Given the description of an element on the screen output the (x, y) to click on. 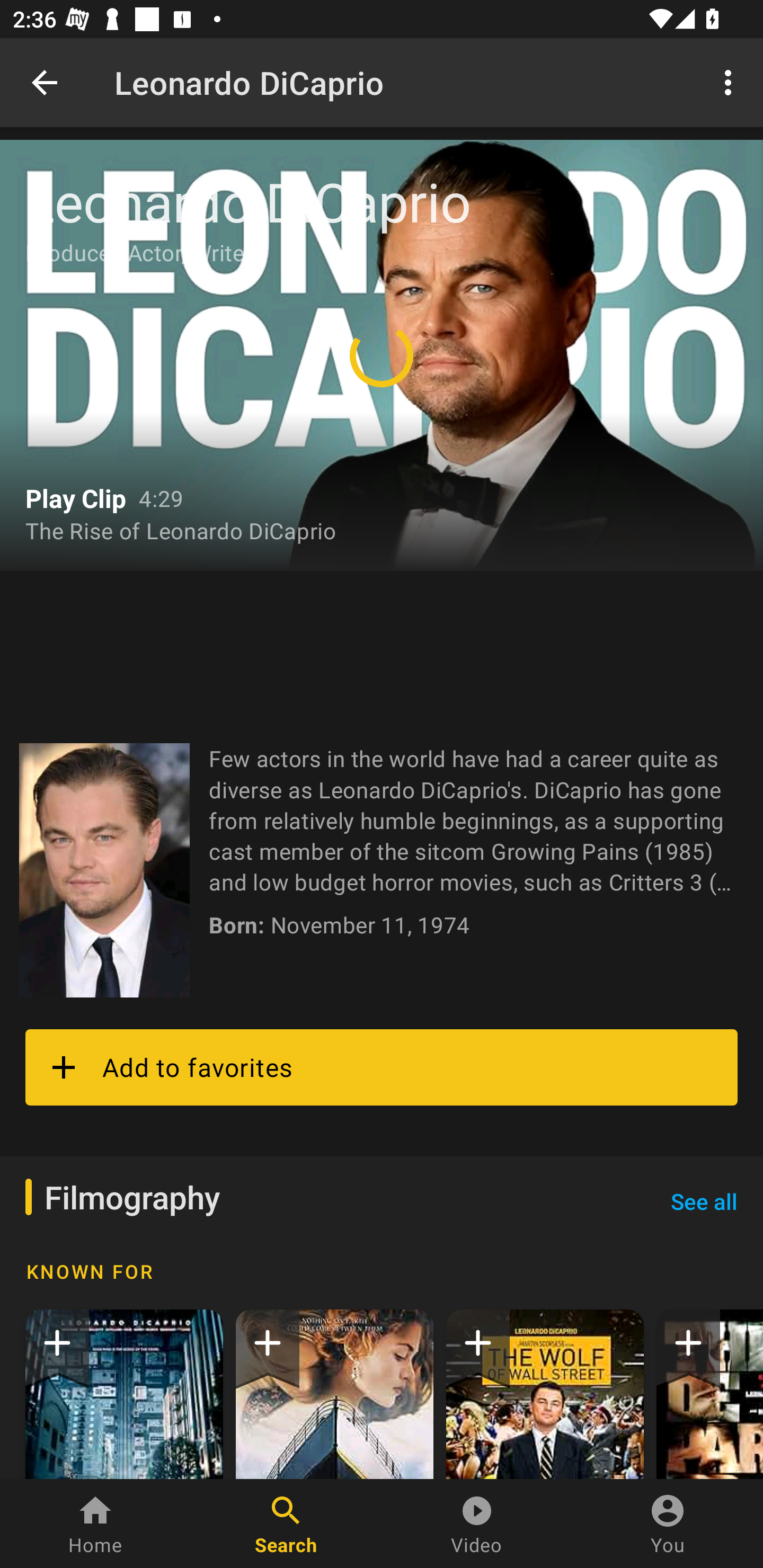
More options (731, 81)
toggle controls (381, 354)
Add to favorites (381, 1066)
See all See all  (703, 1201)
Home (95, 1523)
Video (476, 1523)
You (667, 1523)
